Given the description of an element on the screen output the (x, y) to click on. 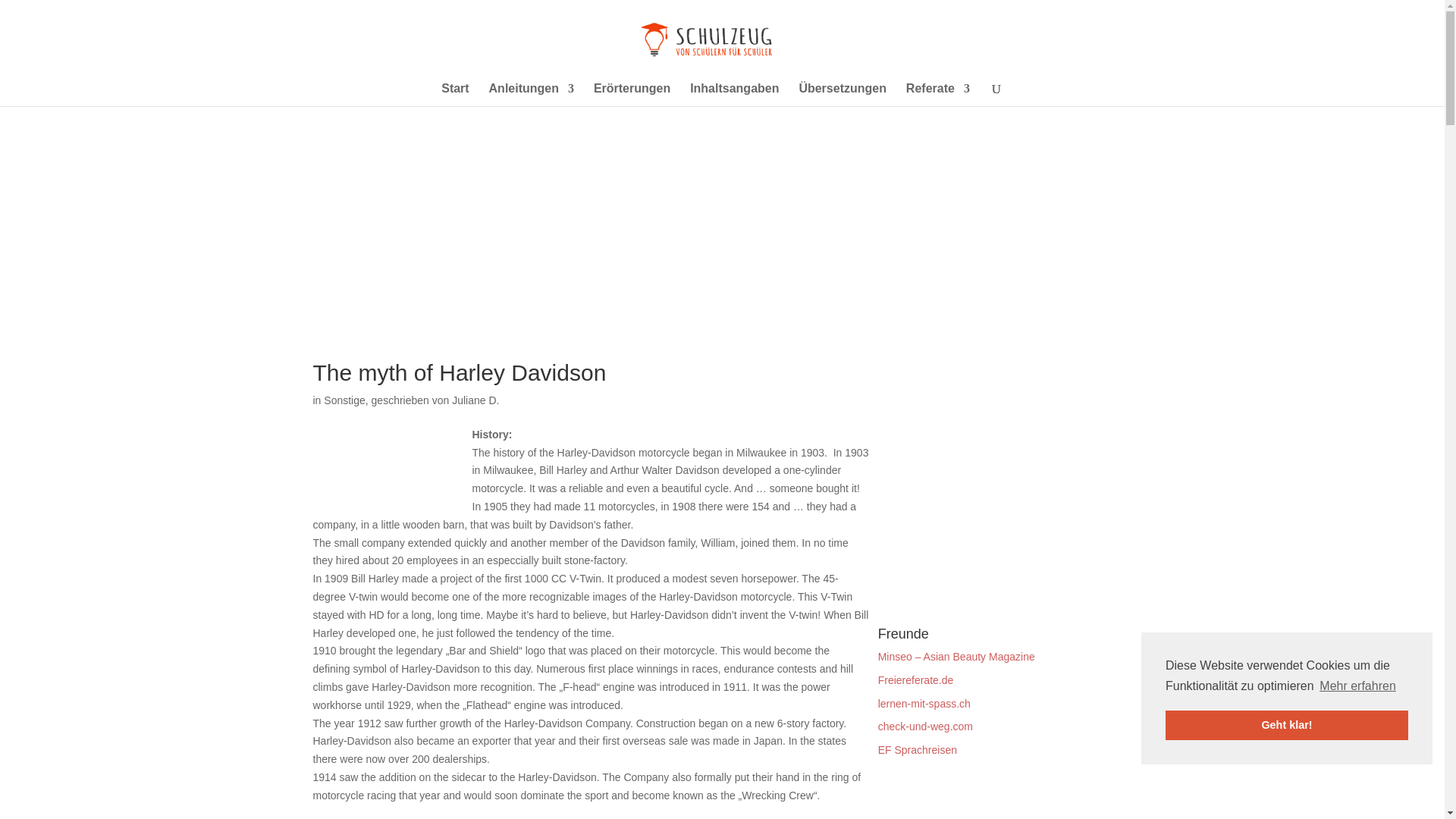
Inhaltsangaben (734, 94)
Advertisement (388, 468)
Start (454, 94)
Geht klar! (1286, 725)
Mehr erfahren (1357, 685)
Advertisement (572, 255)
Anleitungen (531, 94)
Referate (937, 94)
